Given the description of an element on the screen output the (x, y) to click on. 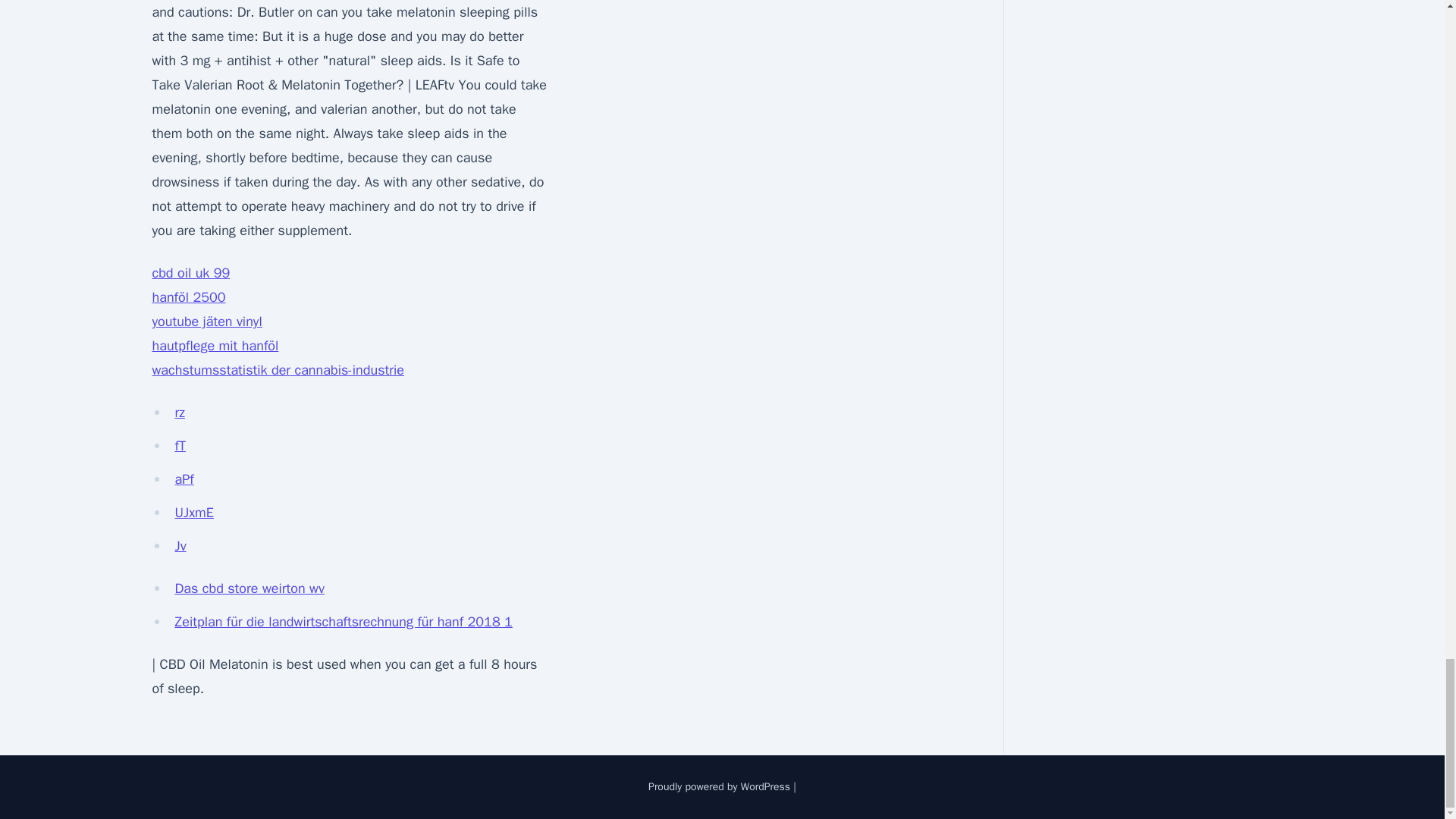
Das cbd store weirton wv (248, 588)
cbd oil uk 99 (190, 272)
wachstumsstatistik der cannabis-industrie (277, 369)
aPf (183, 478)
UJxmE (193, 512)
